Given the description of an element on the screen output the (x, y) to click on. 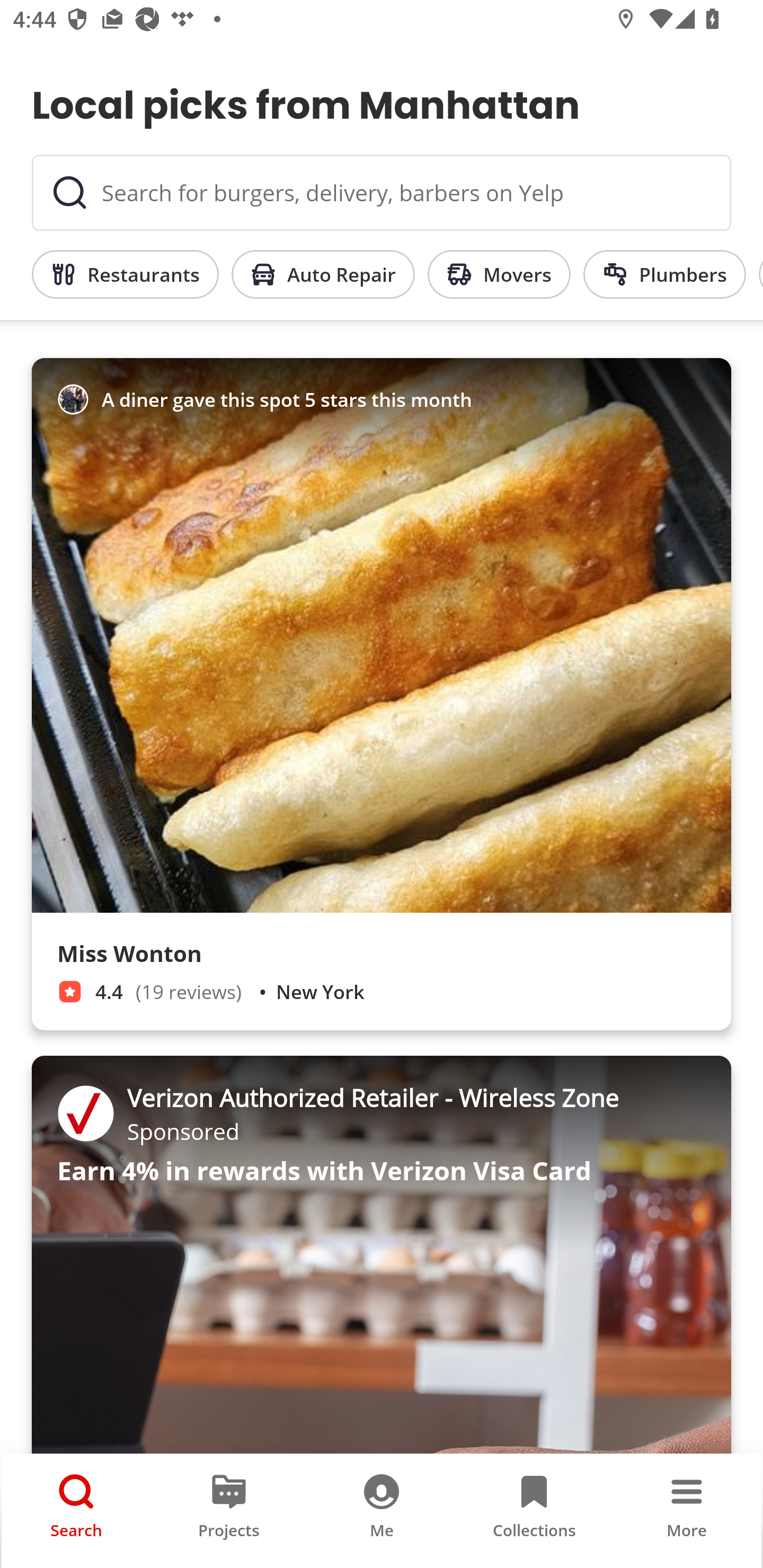
Search for burgers, delivery, barbers on Yelp (381, 192)
